Given the description of an element on the screen output the (x, y) to click on. 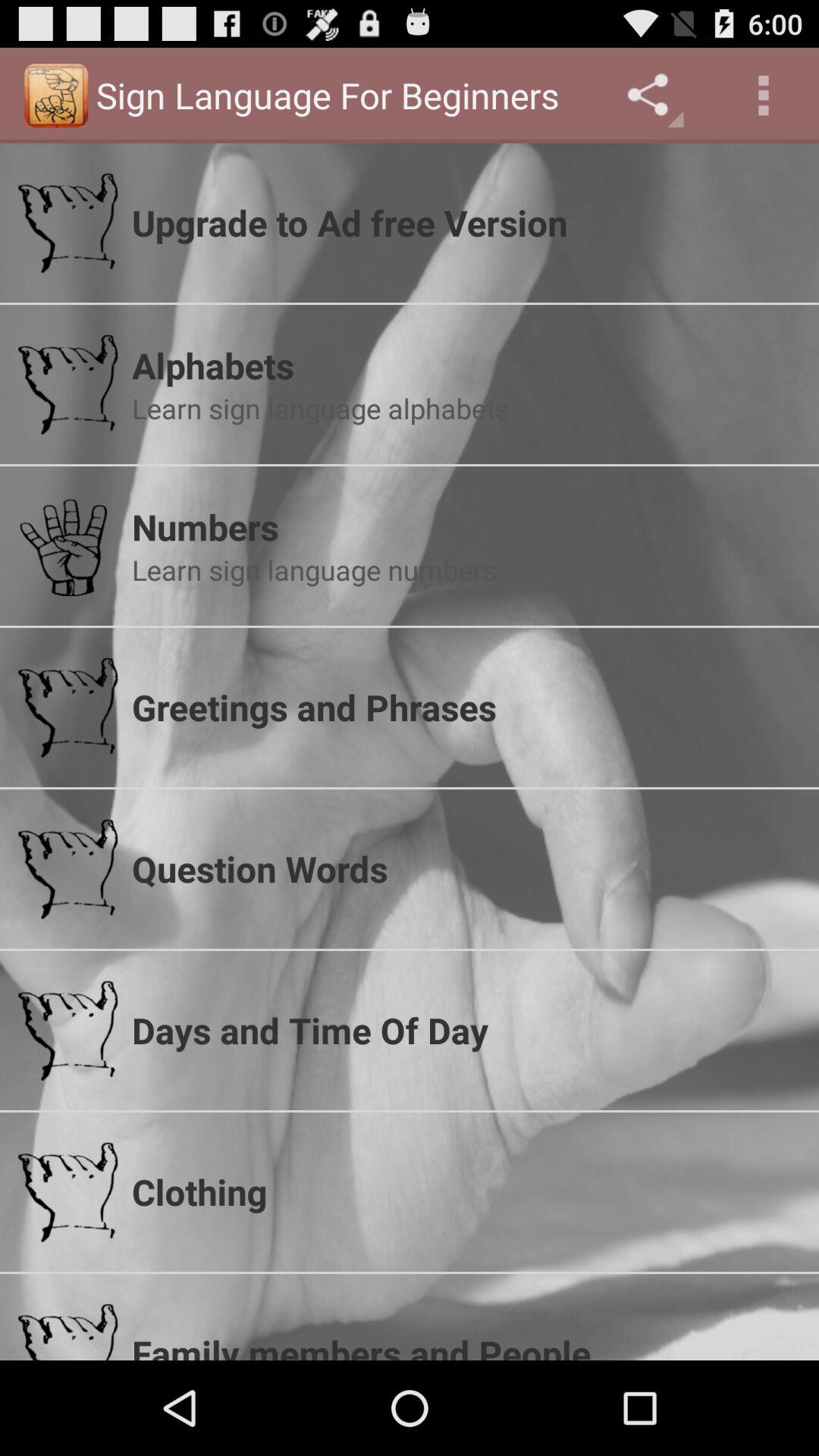
flip to the upgrade to ad app (465, 222)
